Given the description of an element on the screen output the (x, y) to click on. 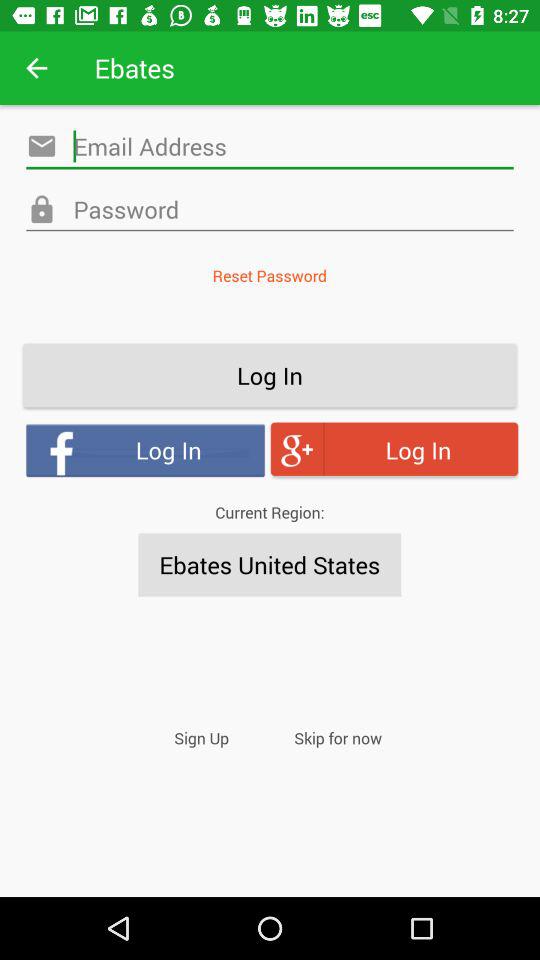
tap the item below ebates united states (337, 737)
